Given the description of an element on the screen output the (x, y) to click on. 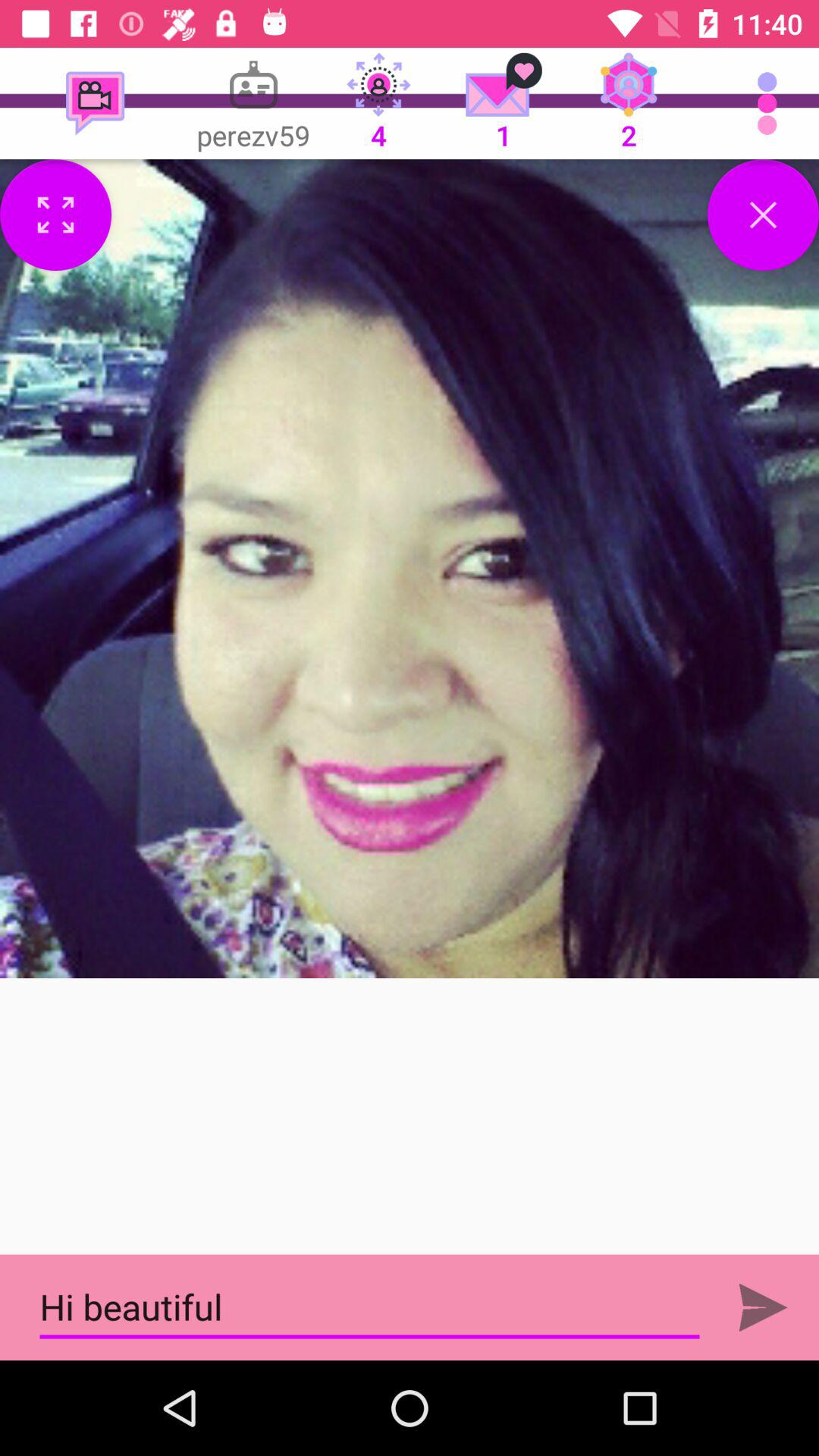
sending (763, 1307)
